Given the description of an element on the screen output the (x, y) to click on. 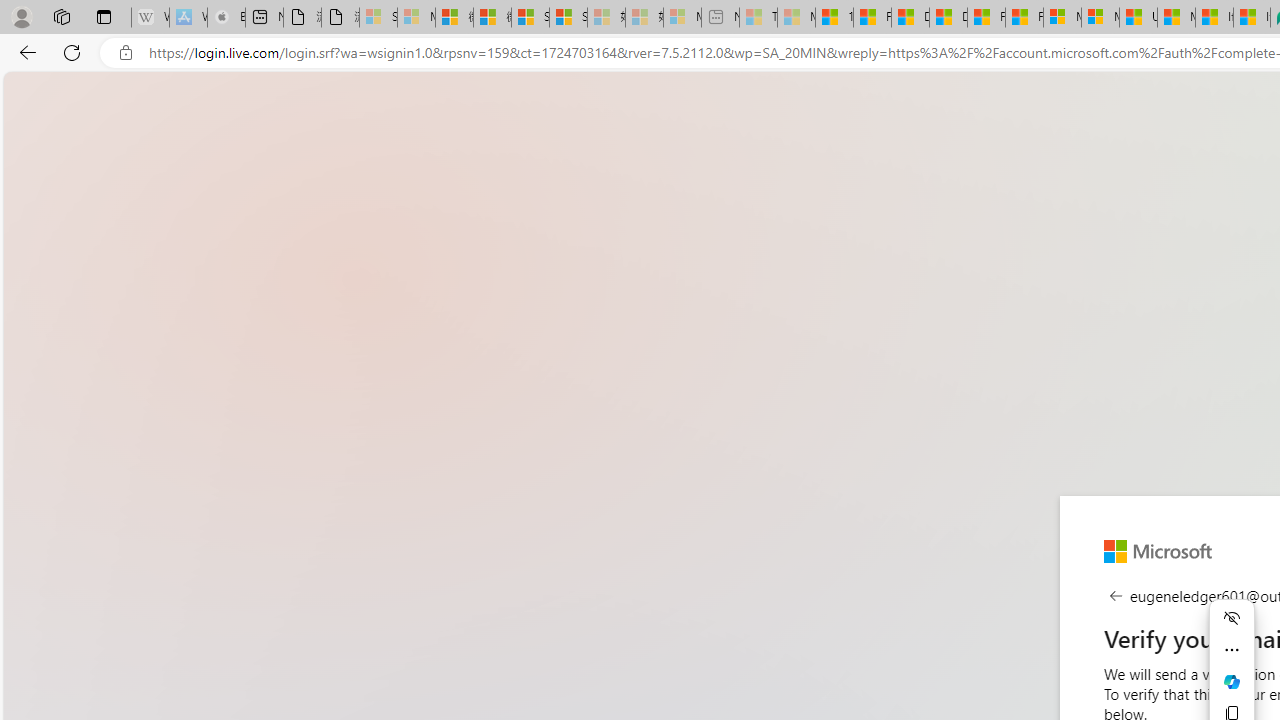
Buy iPad - Apple - Sleeping (225, 17)
Microsoft account | Account Checkup - Sleeping (682, 17)
Sign in to your Microsoft account - Sleeping (377, 17)
Drinking tea every day is proven to delay biological aging (948, 17)
